Given the description of an element on the screen output the (x, y) to click on. 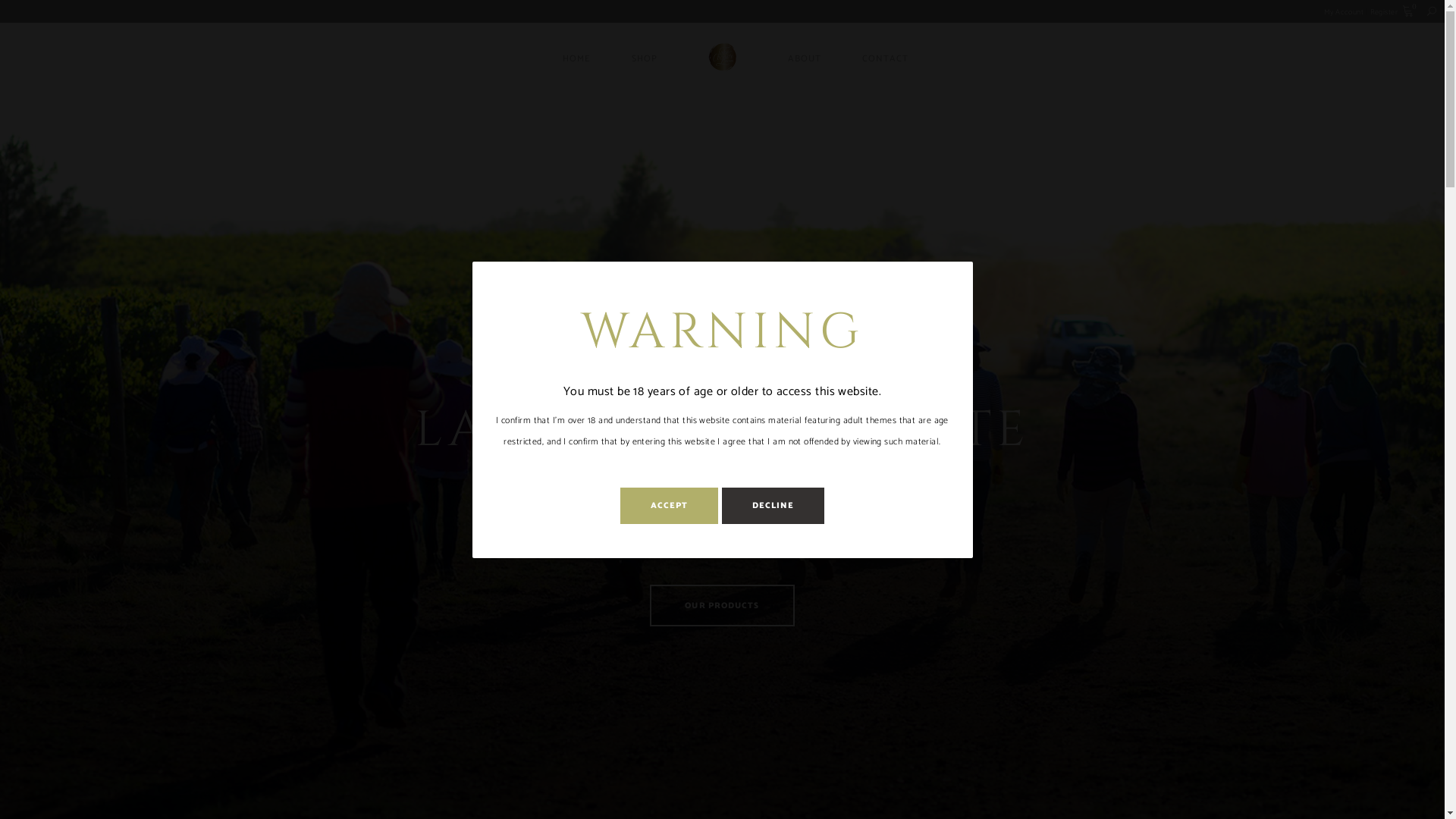
Decline Element type: text (773, 505)
Register Element type: text (1384, 12)
0 Element type: text (1408, 11)
My Account Element type: text (1344, 12)
SHOP Element type: text (644, 58)
HOME Element type: text (576, 58)
OUR PRODUCTS Element type: text (721, 605)
ABOUT Element type: text (804, 58)
CONTACT Element type: text (884, 58)
Accept Element type: text (669, 505)
